Given the description of an element on the screen output the (x, y) to click on. 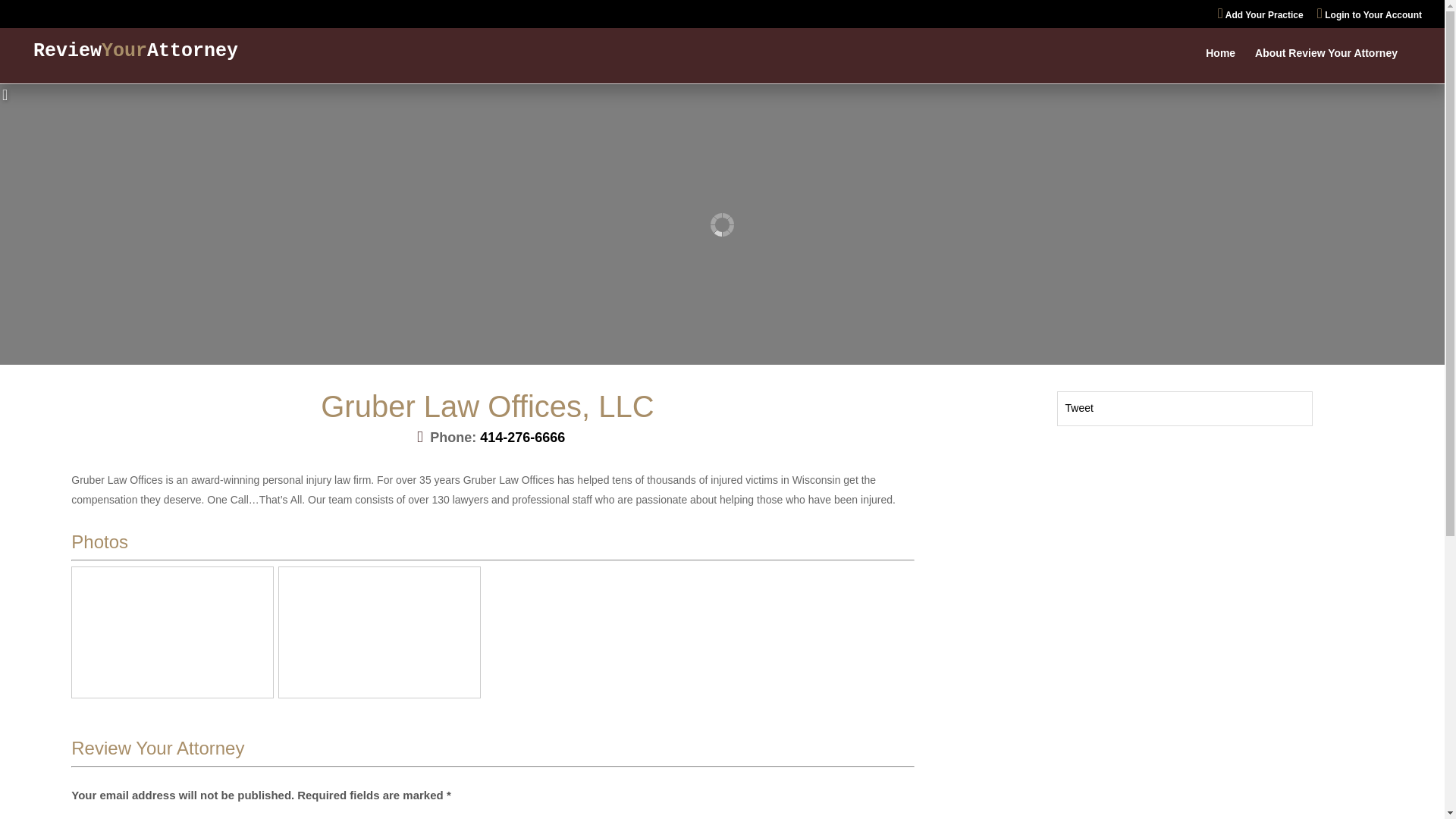
Photos (99, 541)
Tweet (1078, 408)
About Review Your Attorney (1326, 65)
Add Your Practice (1260, 16)
Login to Your Account (1369, 16)
414-276-6666 (522, 437)
Review Your Attorney (157, 747)
ReviewYourAttorney (135, 51)
